Given the description of an element on the screen output the (x, y) to click on. 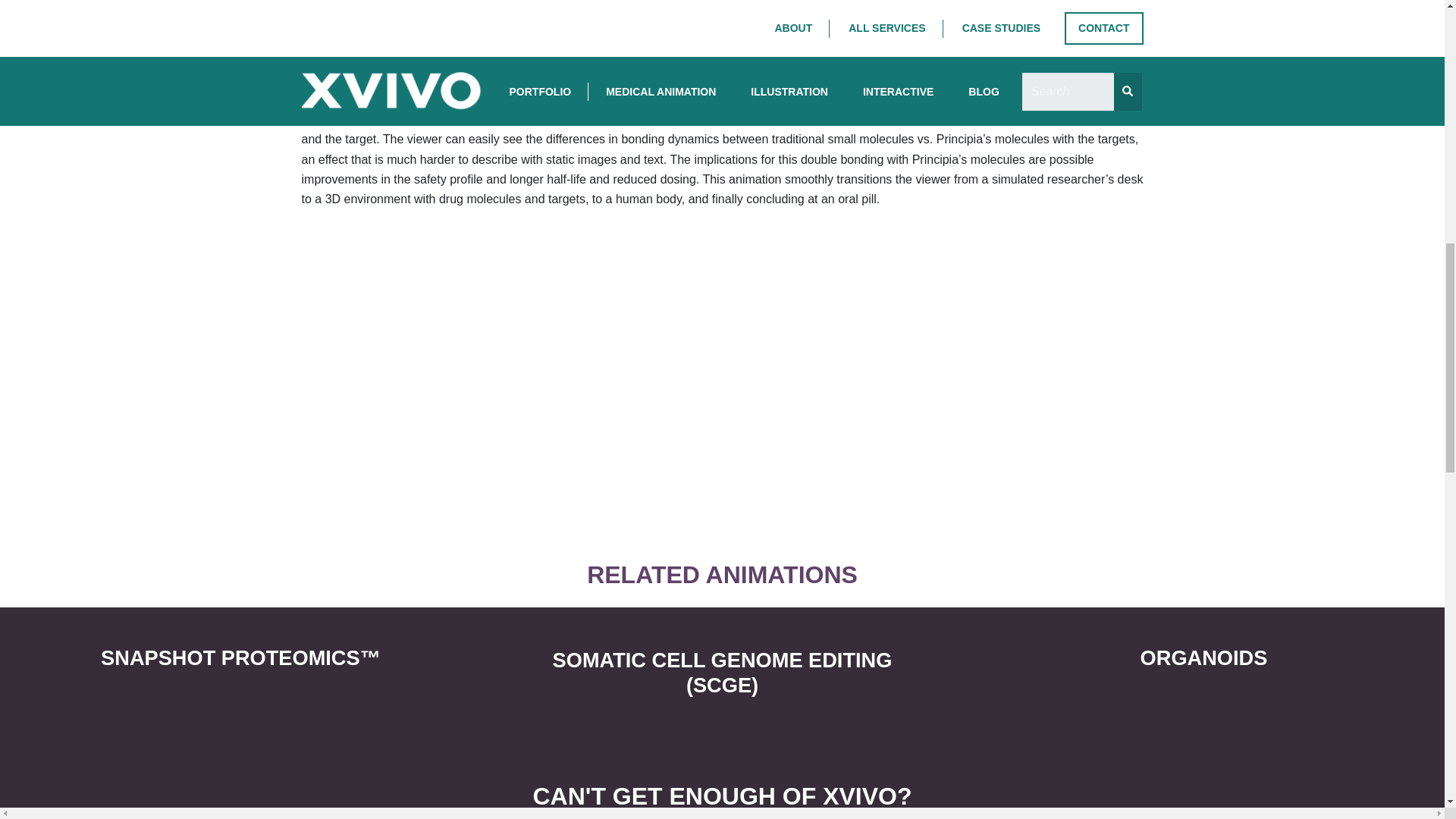
engaging animation (708, 98)
VIEW (722, 719)
VIEW (240, 690)
VIEW (1202, 690)
